Given the description of an element on the screen output the (x, y) to click on. 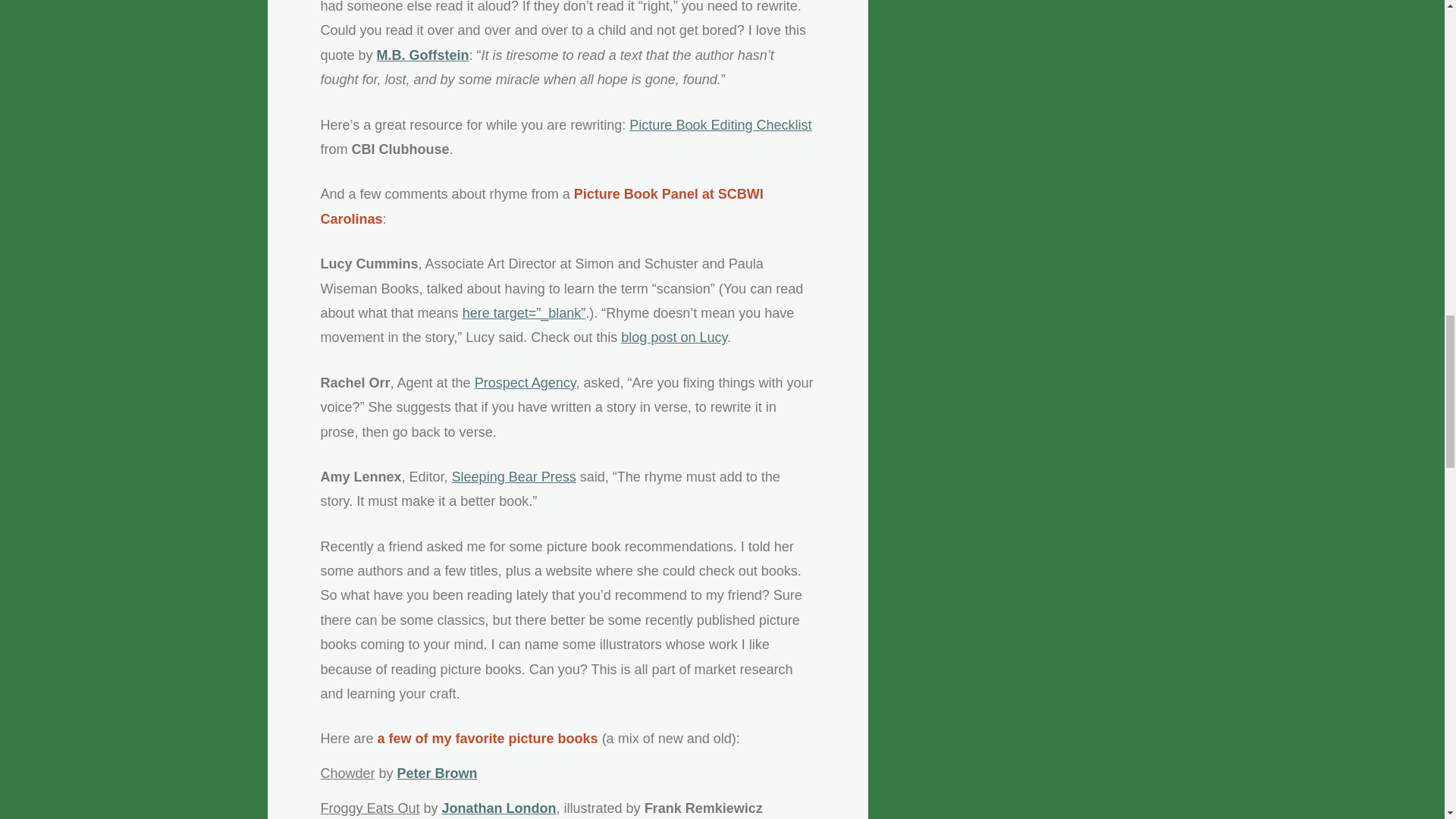
Prospect Agency (525, 382)
M.B. Goffstein (422, 55)
Sleeping Bear Press (513, 476)
Peter Brown (437, 773)
Picture Book Editing Checklist (719, 124)
Jonathan London (499, 807)
blog post on Lucy (673, 337)
